Given the description of an element on the screen output the (x, y) to click on. 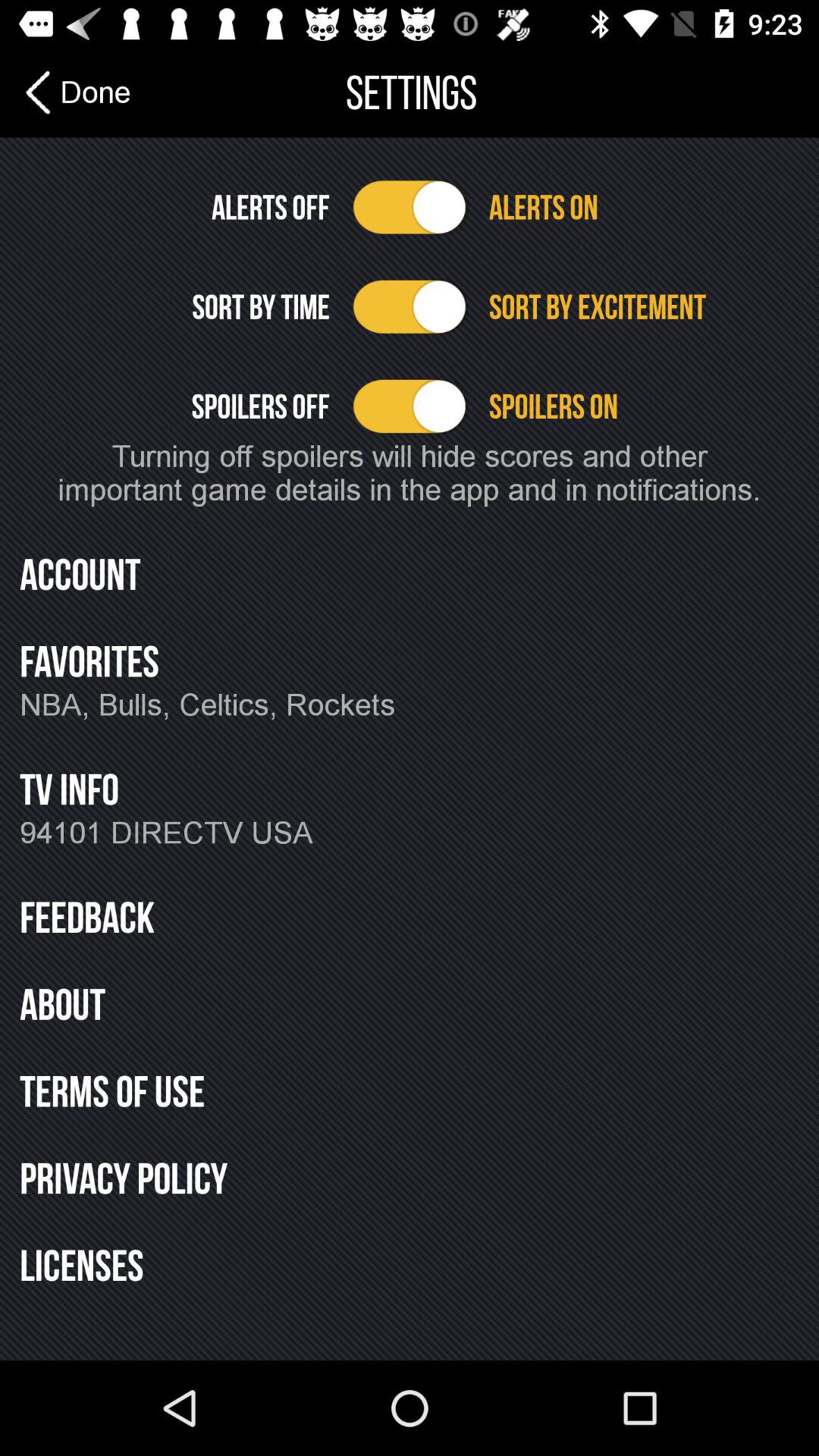
tap alerts off icon (174, 206)
